Given the description of an element on the screen output the (x, y) to click on. 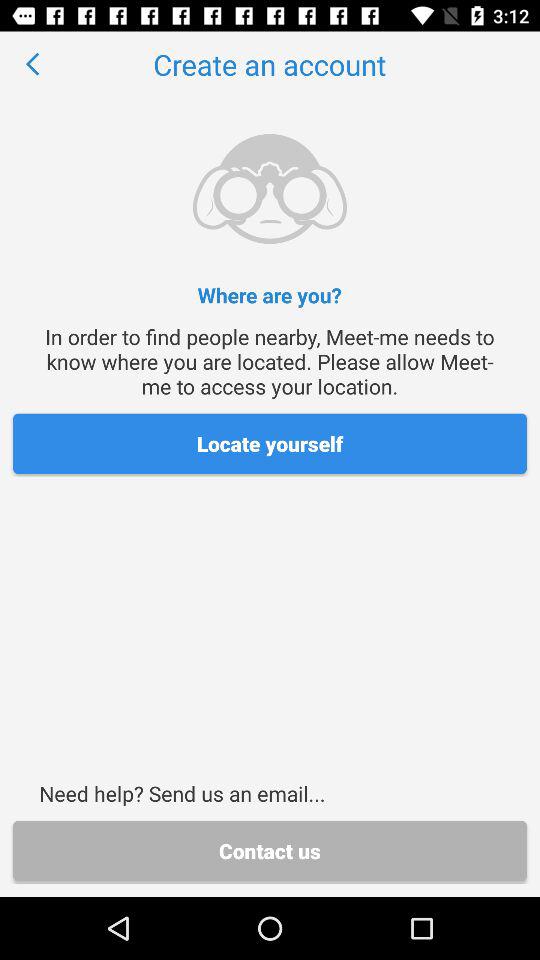
turn off locate yourself (269, 443)
